Given the description of an element on the screen output the (x, y) to click on. 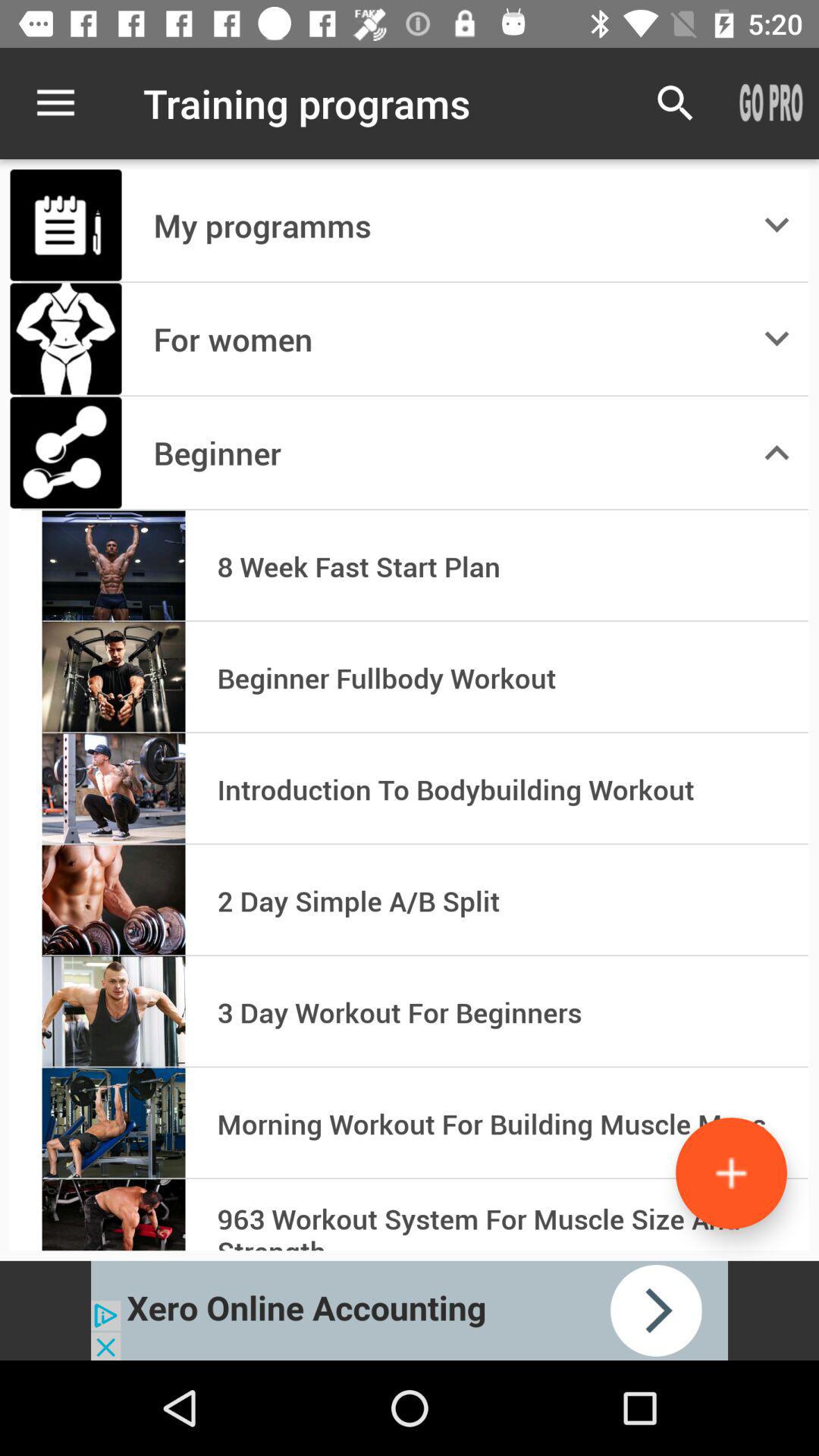
more options (731, 1173)
